Given the description of an element on the screen output the (x, y) to click on. 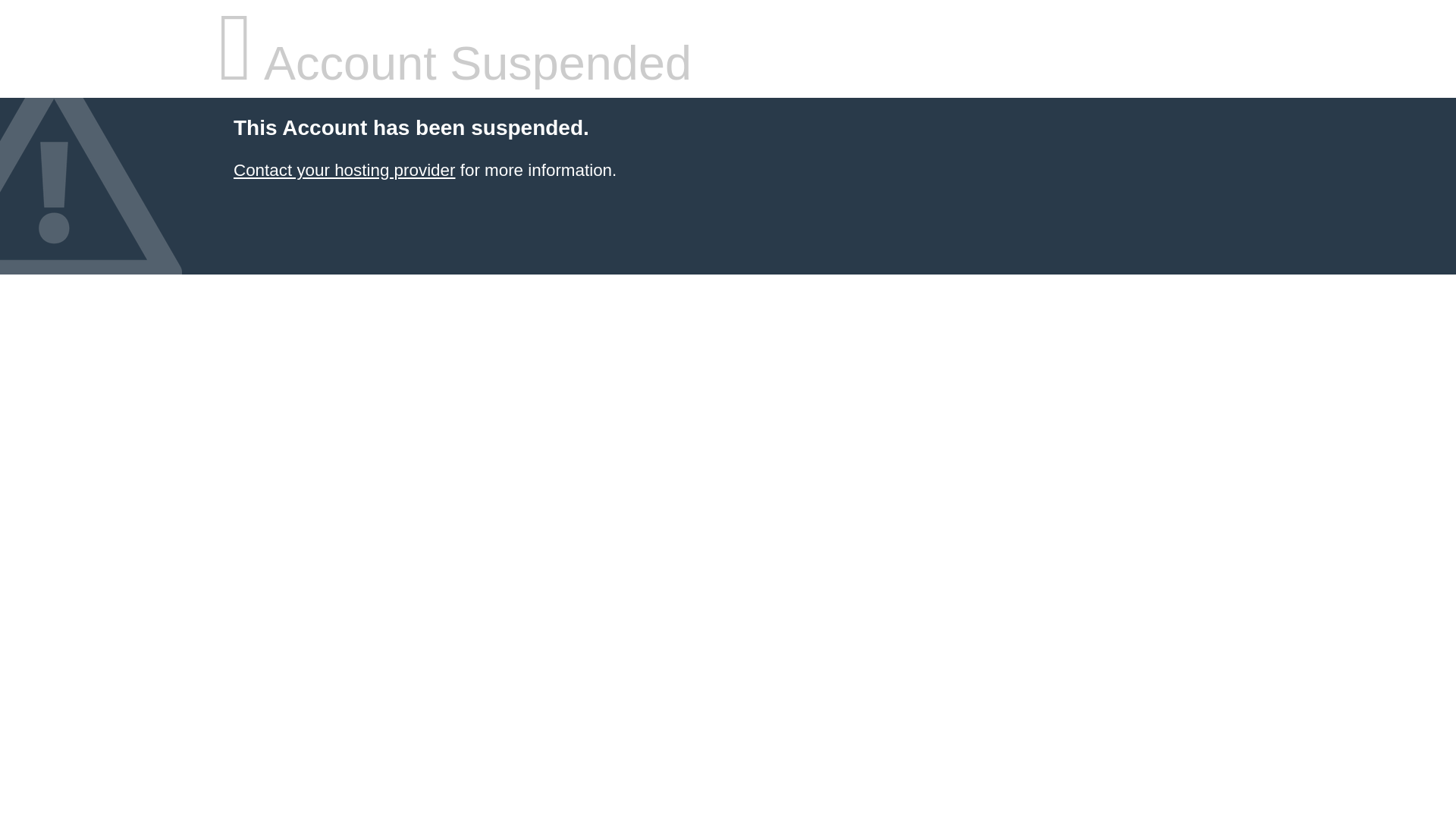
Novus Ltd (343, 169)
Contact your hosting provider (343, 169)
